Given the description of an element on the screen output the (x, y) to click on. 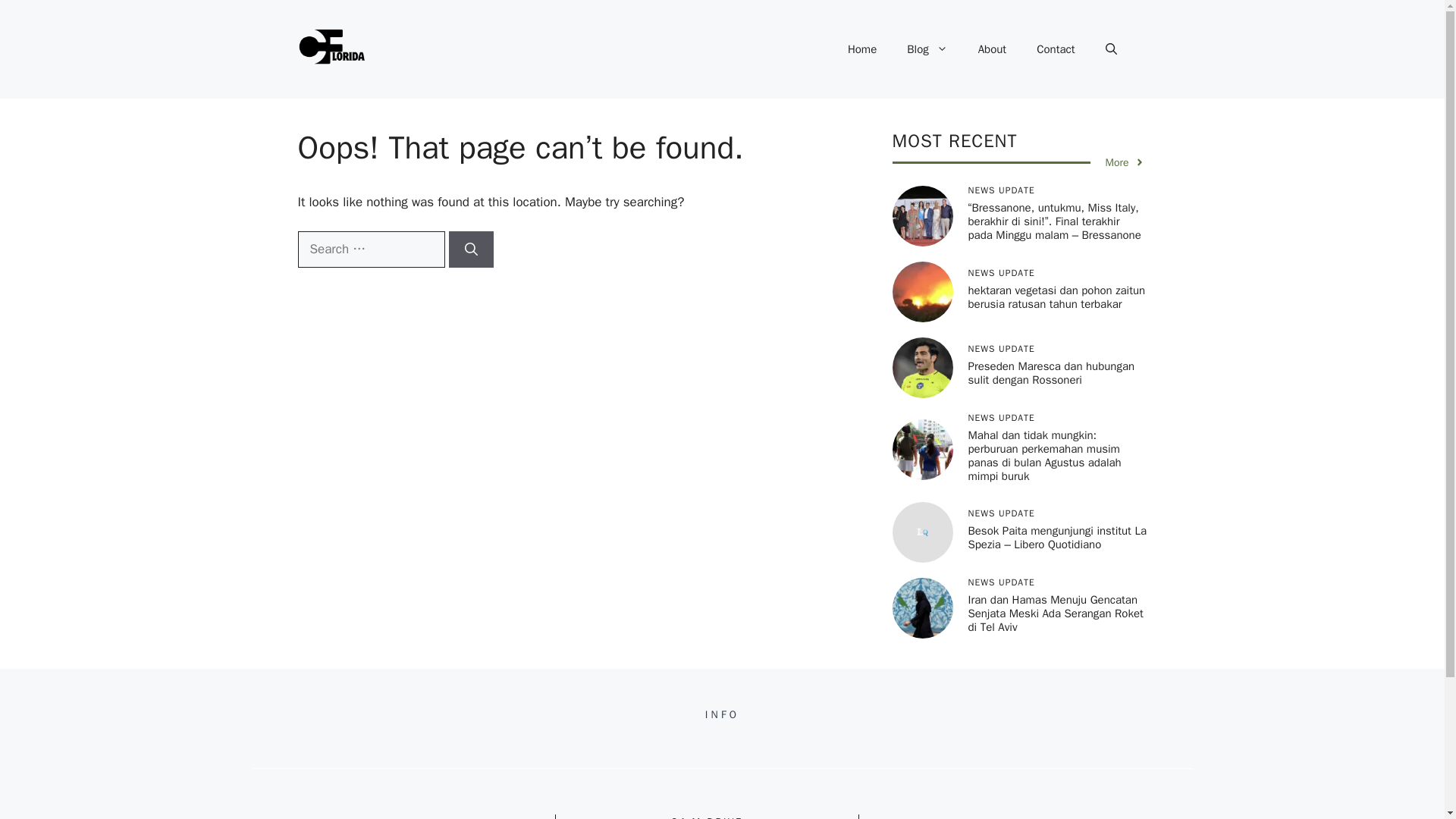
Search for: (370, 248)
Preseden Maresca dan hubungan sulit dengan Rossoneri (1051, 372)
Blog (926, 49)
Contact (1055, 49)
About (992, 49)
More (1124, 162)
Home (861, 49)
